Given the description of an element on the screen output the (x, y) to click on. 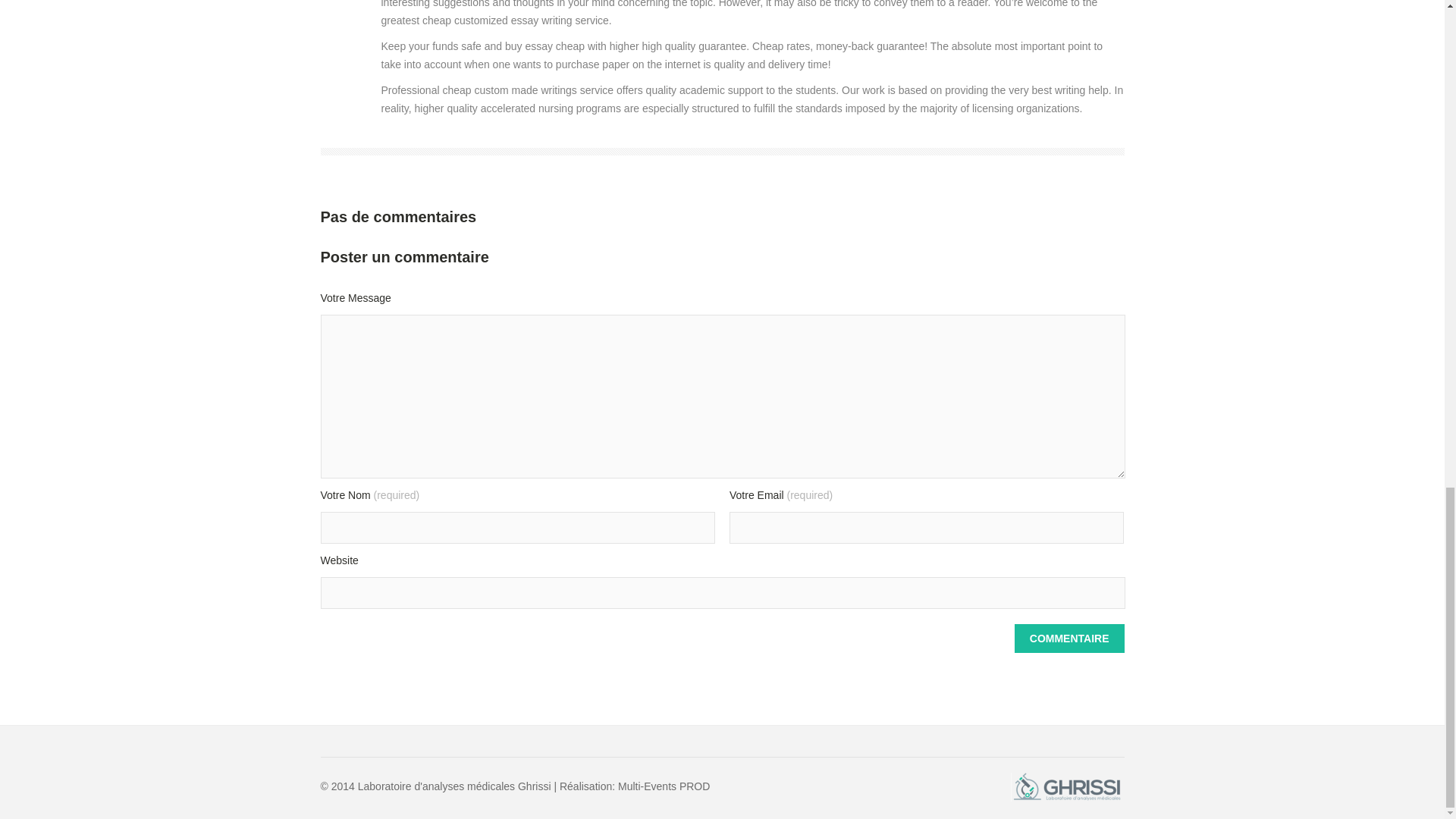
Multi-Events PROD (662, 786)
Commentaire (1069, 638)
Commentaire (1069, 638)
Laboratoire Ghrissi (1067, 797)
Laboratoire Ghrissi (1067, 787)
